Given the description of an element on the screen output the (x, y) to click on. 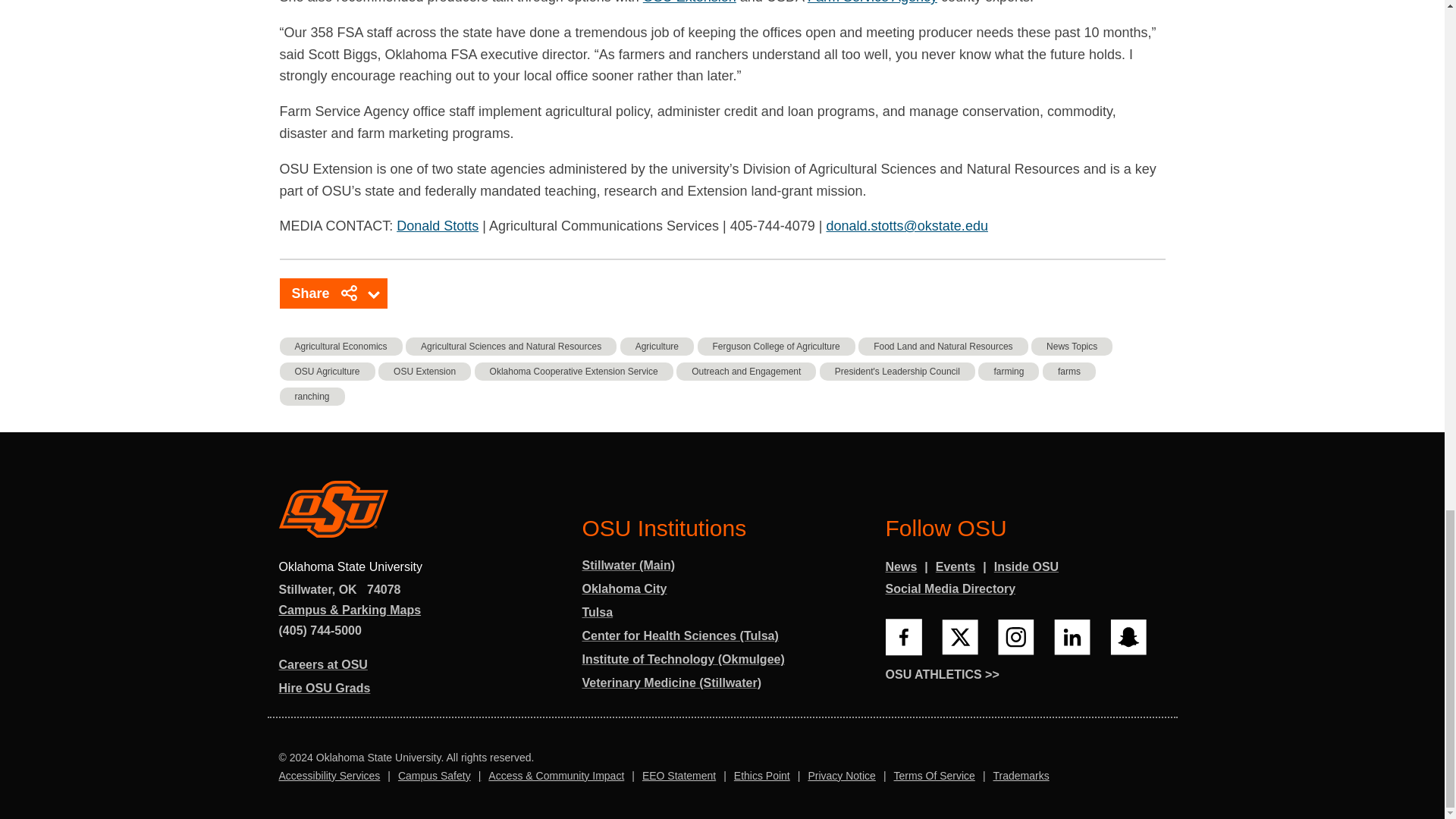
OSU Extension (689, 4)
Oklahoma (347, 590)
Stillwater, OK 74078 (340, 590)
